Given the description of an element on the screen output the (x, y) to click on. 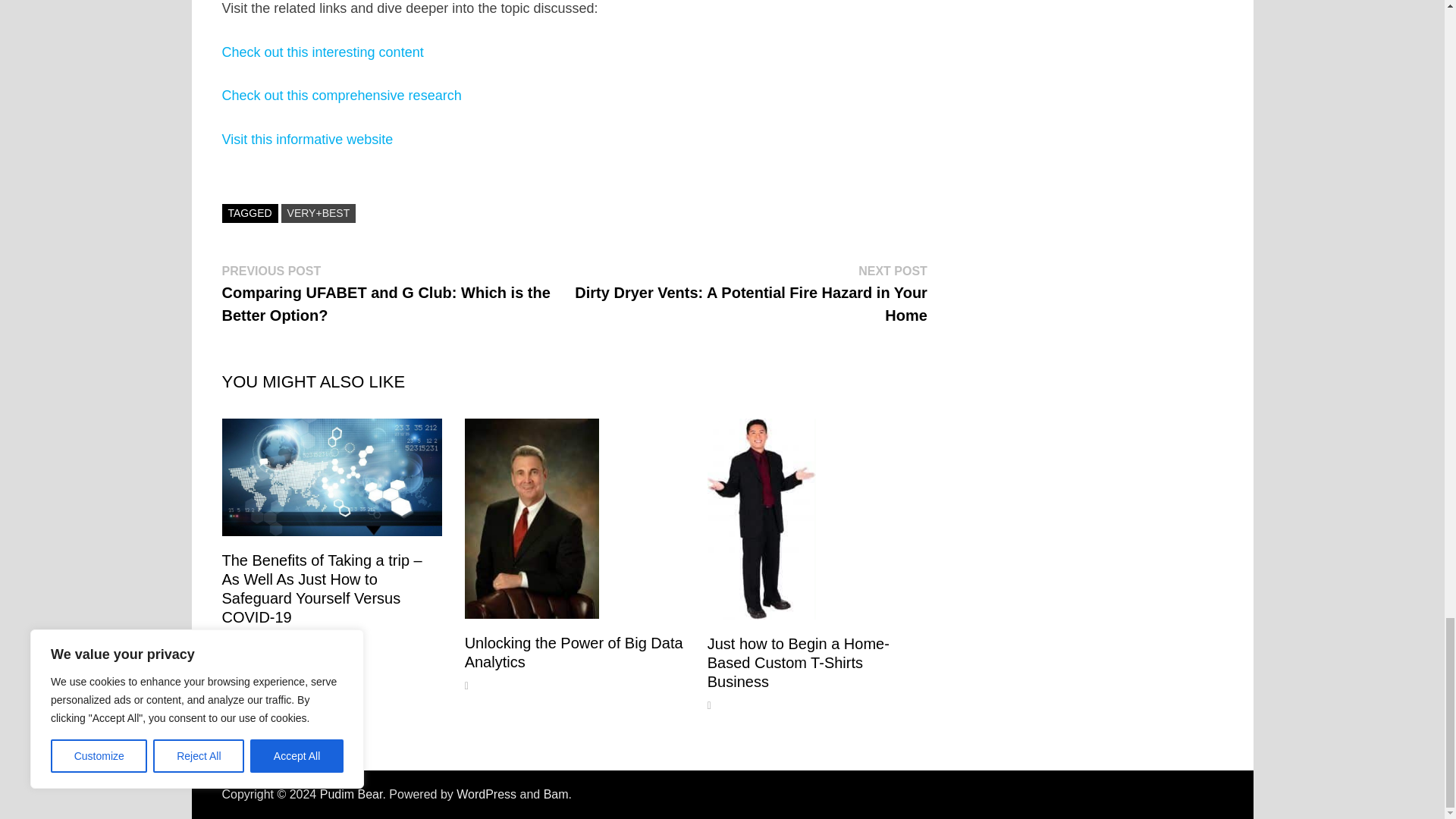
Pudim Bear (351, 793)
Unlocking the Power of Big Data Analytics (573, 652)
Check out this interesting content (322, 52)
Just how to Begin a Home-Based Custom T-Shirts Business (798, 662)
Visit this informative website (307, 139)
Check out this comprehensive research (341, 95)
